Given the description of an element on the screen output the (x, y) to click on. 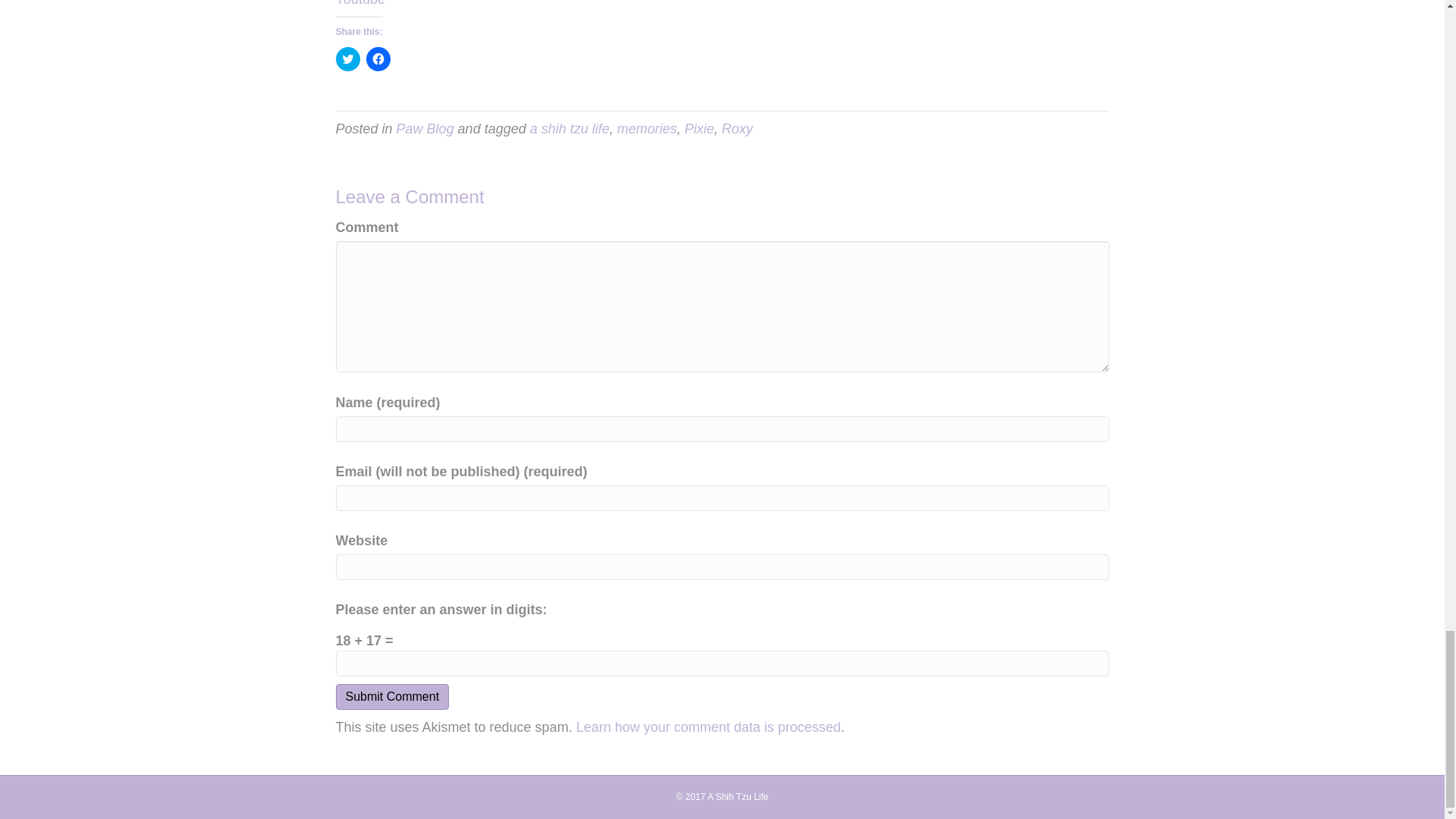
Submit Comment (391, 696)
Learn how your comment data is processed (708, 726)
Roxy (737, 128)
memories (647, 128)
Pixie (699, 128)
Youtube (359, 3)
Submit Comment (391, 696)
a shih tzu life (569, 128)
Click to share on Facebook (377, 58)
Paw Blog (425, 128)
